Given the description of an element on the screen output the (x, y) to click on. 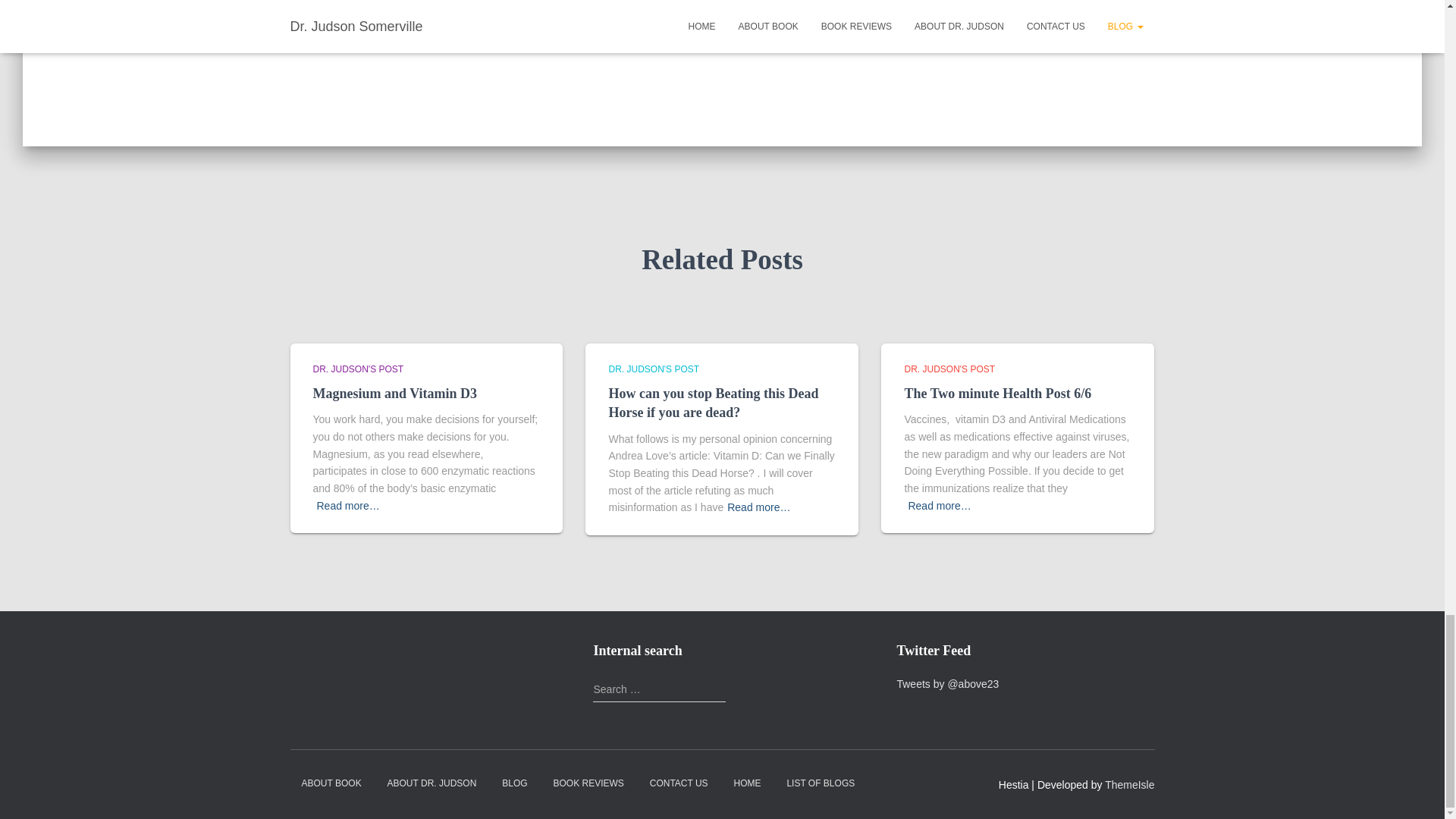
ThemeIsle (1129, 784)
Validate my RSS feed (322, 645)
CONTACT US (679, 783)
ABOUT DR. JUDSON (431, 783)
ABOUT BOOK (330, 783)
Post Comment (944, 13)
Magnesium and Vitamin D3 (395, 393)
BLOG (514, 783)
DR. JUDSON'S POST (358, 368)
HOME (747, 783)
View all posts in Dr. Judson's post (358, 368)
Post Comment (944, 13)
View all posts in Dr. Judson's post (653, 368)
View all posts in Dr. Judson's post (949, 368)
DR. JUDSON'S POST (949, 368)
